Given the description of an element on the screen output the (x, y) to click on. 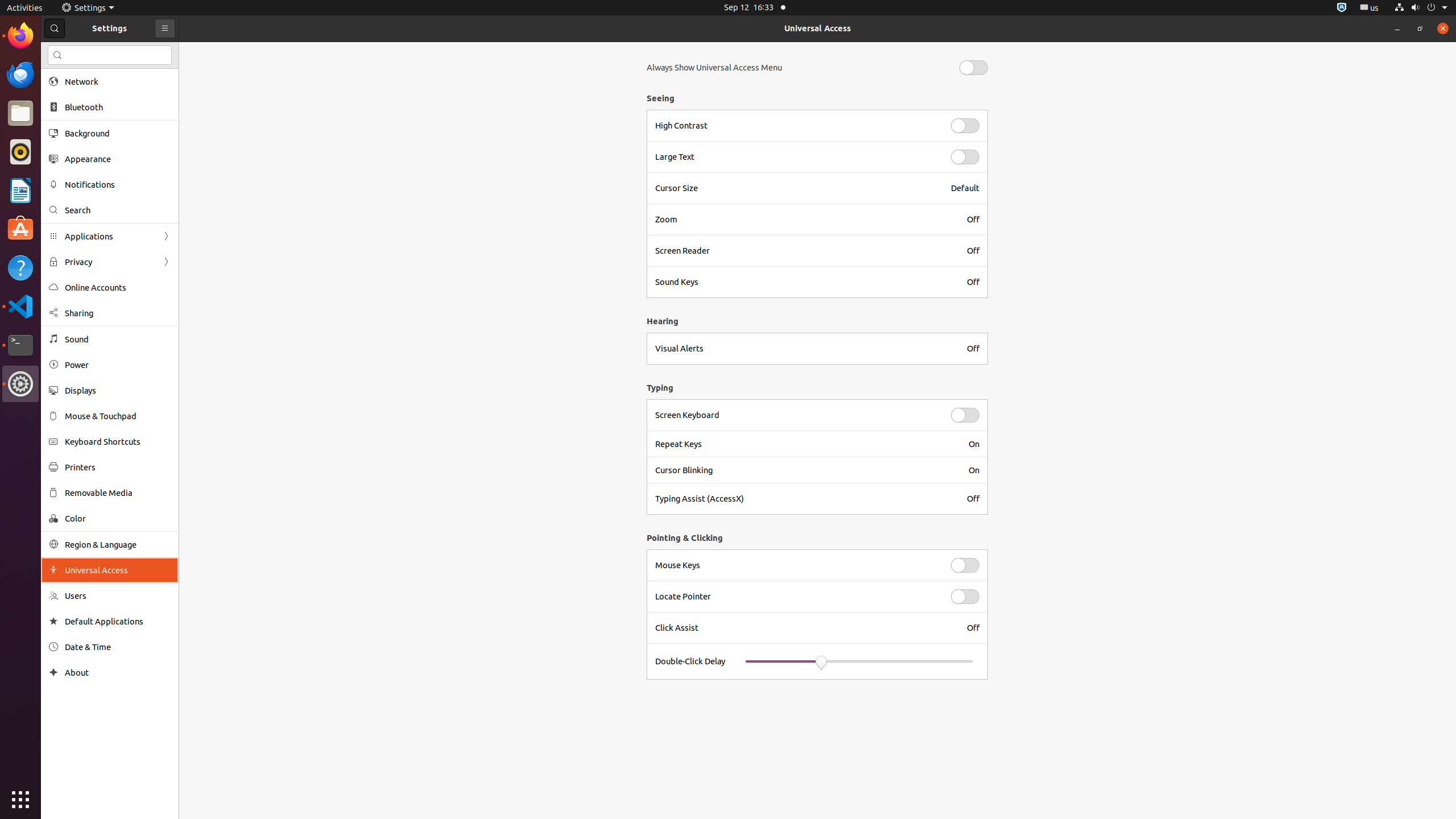
Hearing Element type: label (813, 320)
Visual Alerts Element type: label (804, 348)
Typing Assist (AccessX) Element type: label (804, 498)
Double-Click Delay Element type: label (690, 661)
Cursor Size Element type: label (796, 187)
